Given the description of an element on the screen output the (x, y) to click on. 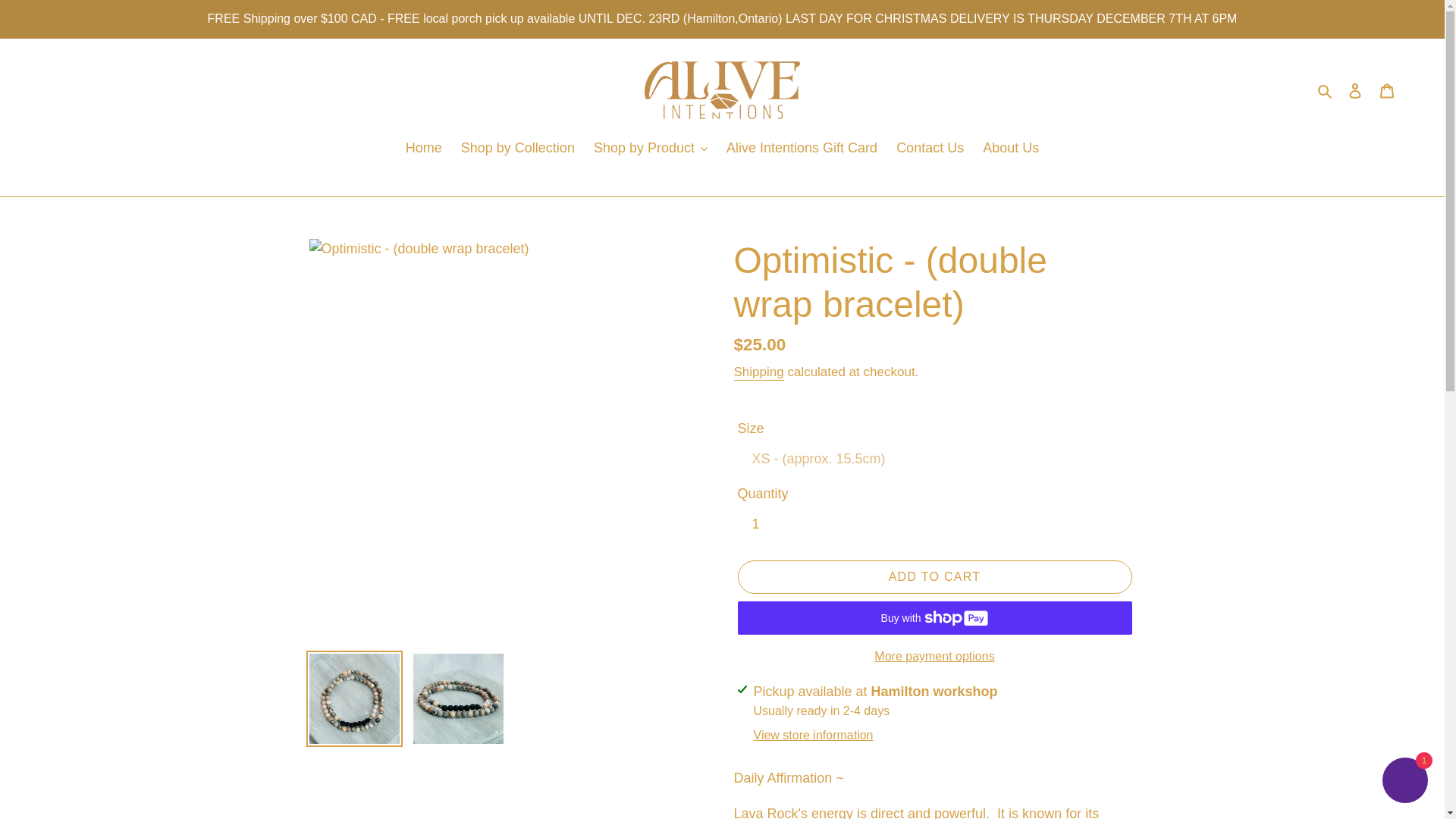
Search (1326, 89)
Log in (1355, 90)
Shop by Product (650, 149)
Shopify online store chat (1404, 781)
Alive Intentions Gift Card (802, 149)
Contact Us (929, 149)
About Us (1010, 149)
Shop by Collection (517, 149)
Cart (1387, 90)
1 (766, 524)
Home (423, 149)
